Given the description of an element on the screen output the (x, y) to click on. 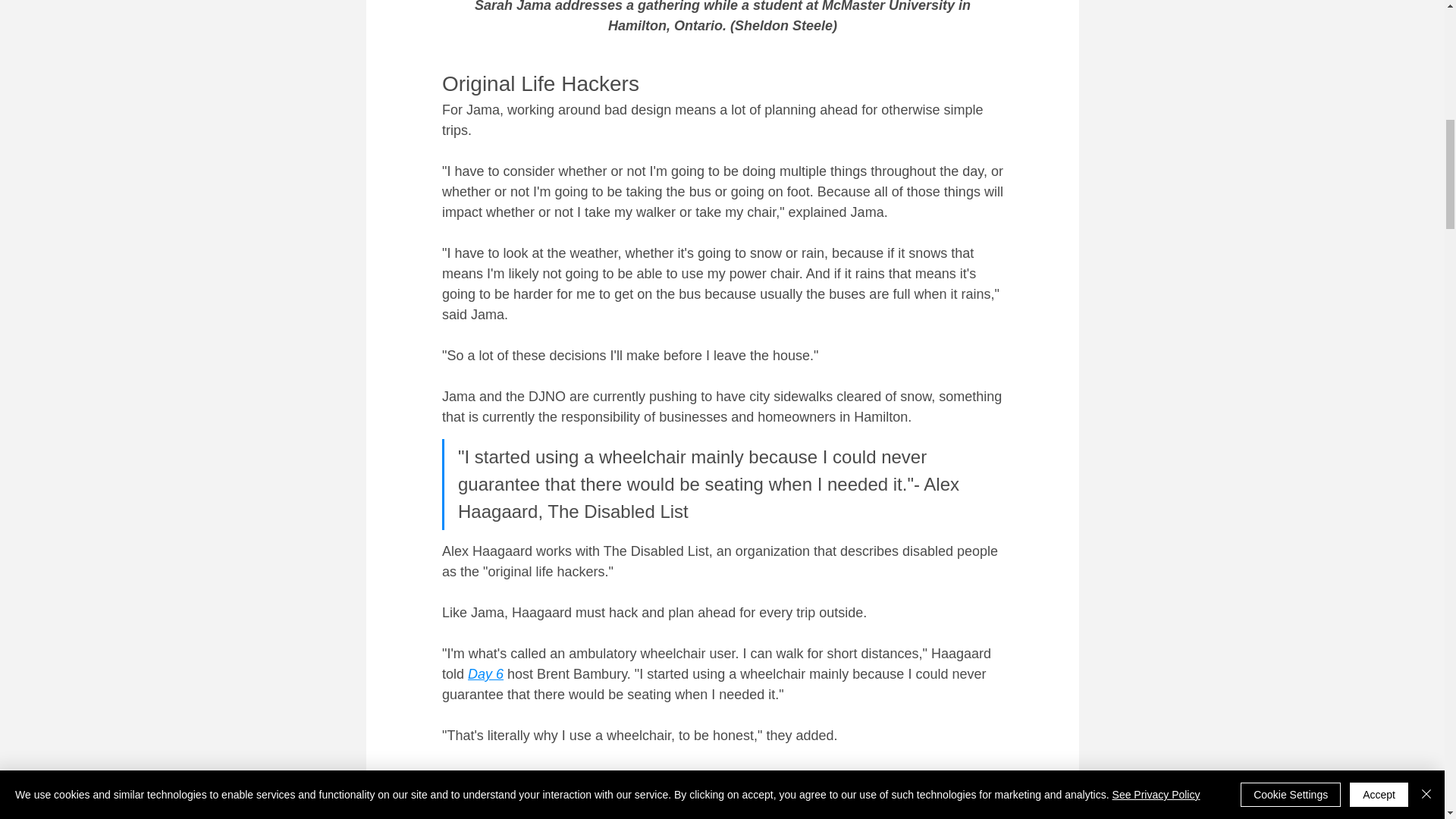
Day 6 (485, 673)
